Given the description of an element on the screen output the (x, y) to click on. 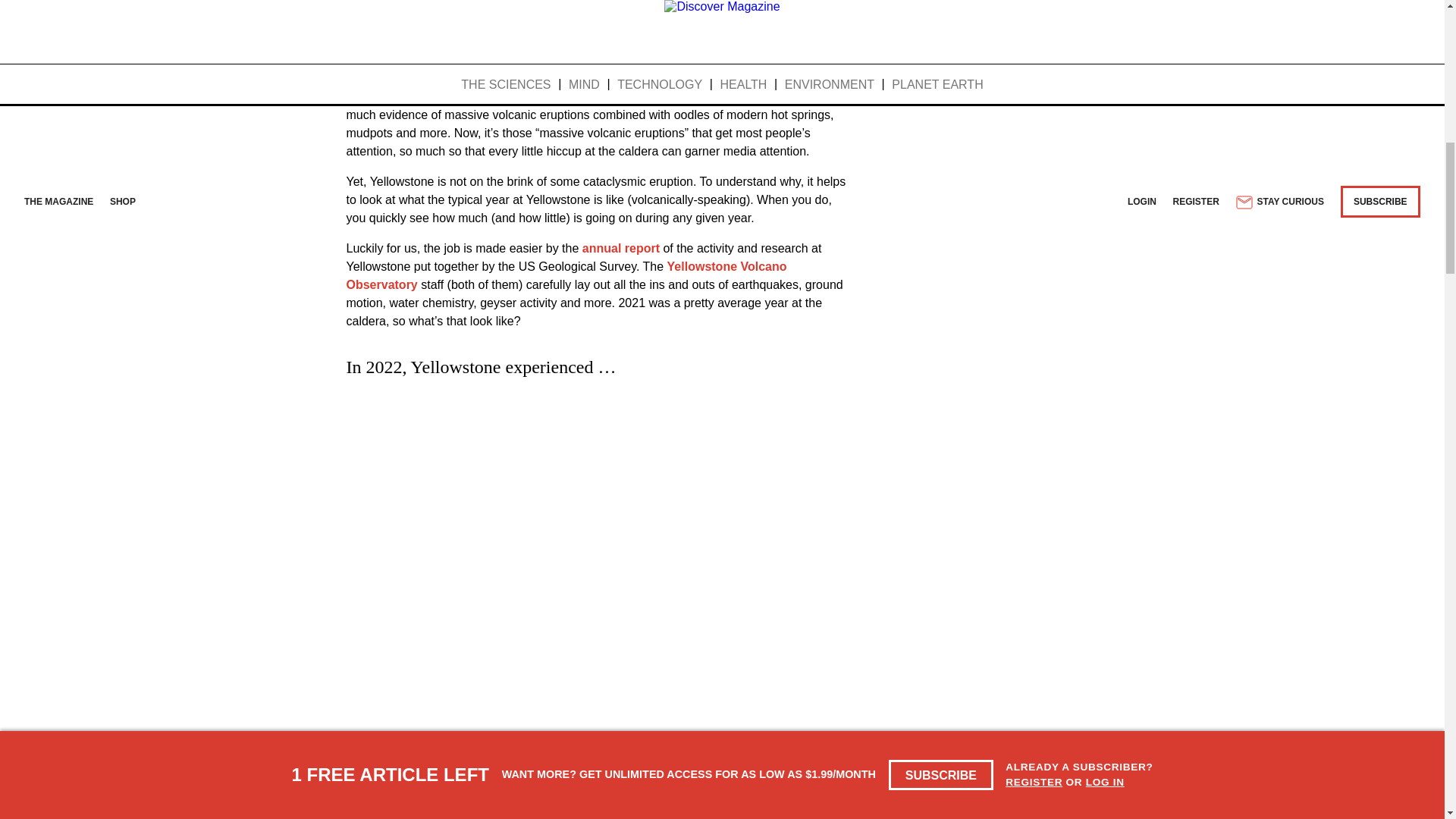
annual report (620, 247)
SIGN UP (811, 33)
Yellowstone Volcano Observatory (566, 275)
